Given the description of an element on the screen output the (x, y) to click on. 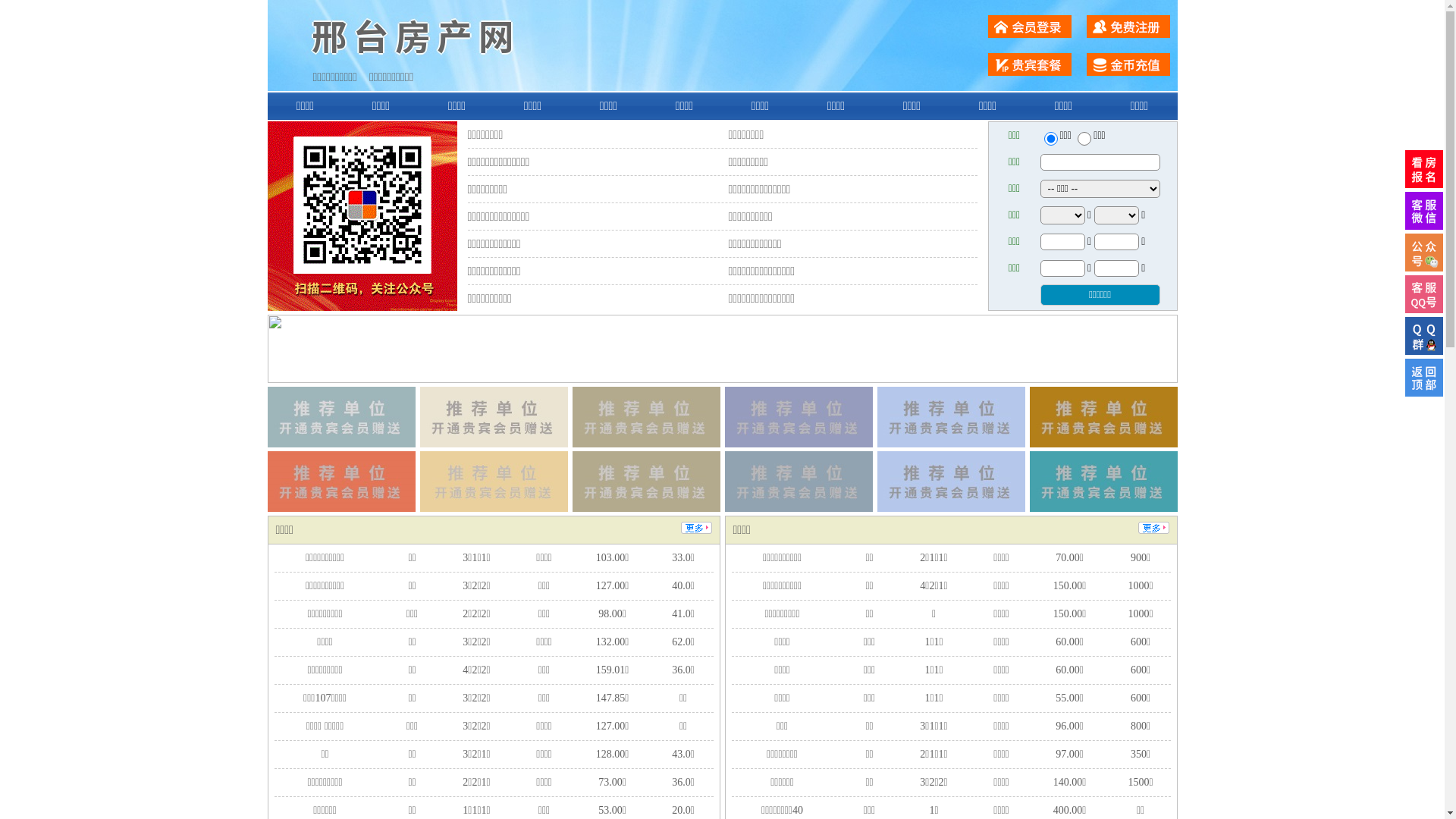
chuzu Element type: text (1084, 138)
ershou Element type: text (1050, 138)
